Given the description of an element on the screen output the (x, y) to click on. 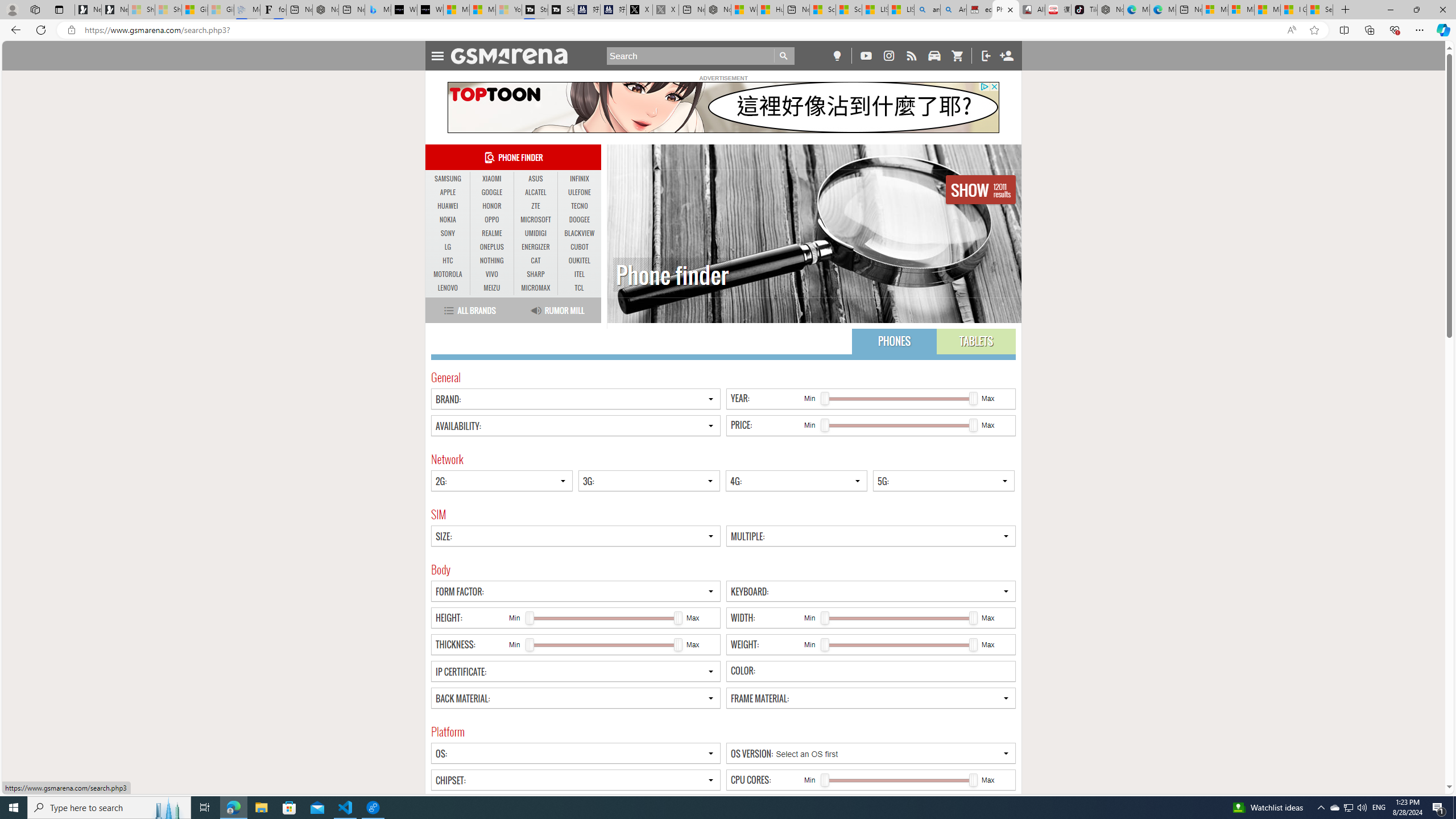
TikTok (1083, 9)
AutomationID: anchor (513, 55)
ASUS (535, 178)
OUKITEL (579, 260)
LENOVO (448, 287)
Newsletter Sign Up (114, 9)
DOOGEE (579, 219)
